Given the description of an element on the screen output the (x, y) to click on. 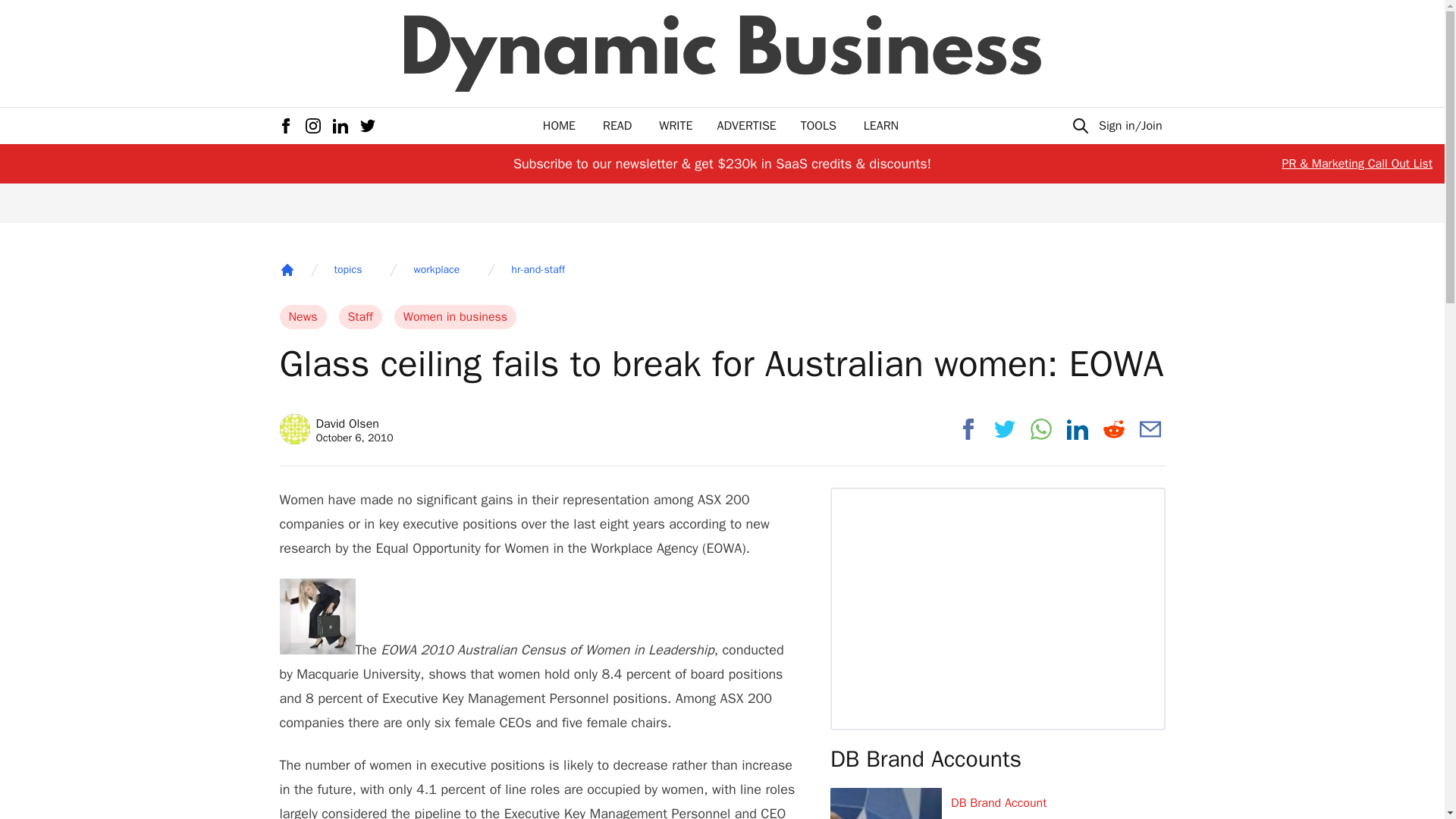
hr-and-staff (537, 269)
Staff (360, 316)
News (302, 316)
TOOLS (817, 126)
Home (286, 269)
workplace (436, 269)
READ (616, 126)
HOME (559, 126)
topics (347, 269)
Women in business (455, 316)
